Given the description of an element on the screen output the (x, y) to click on. 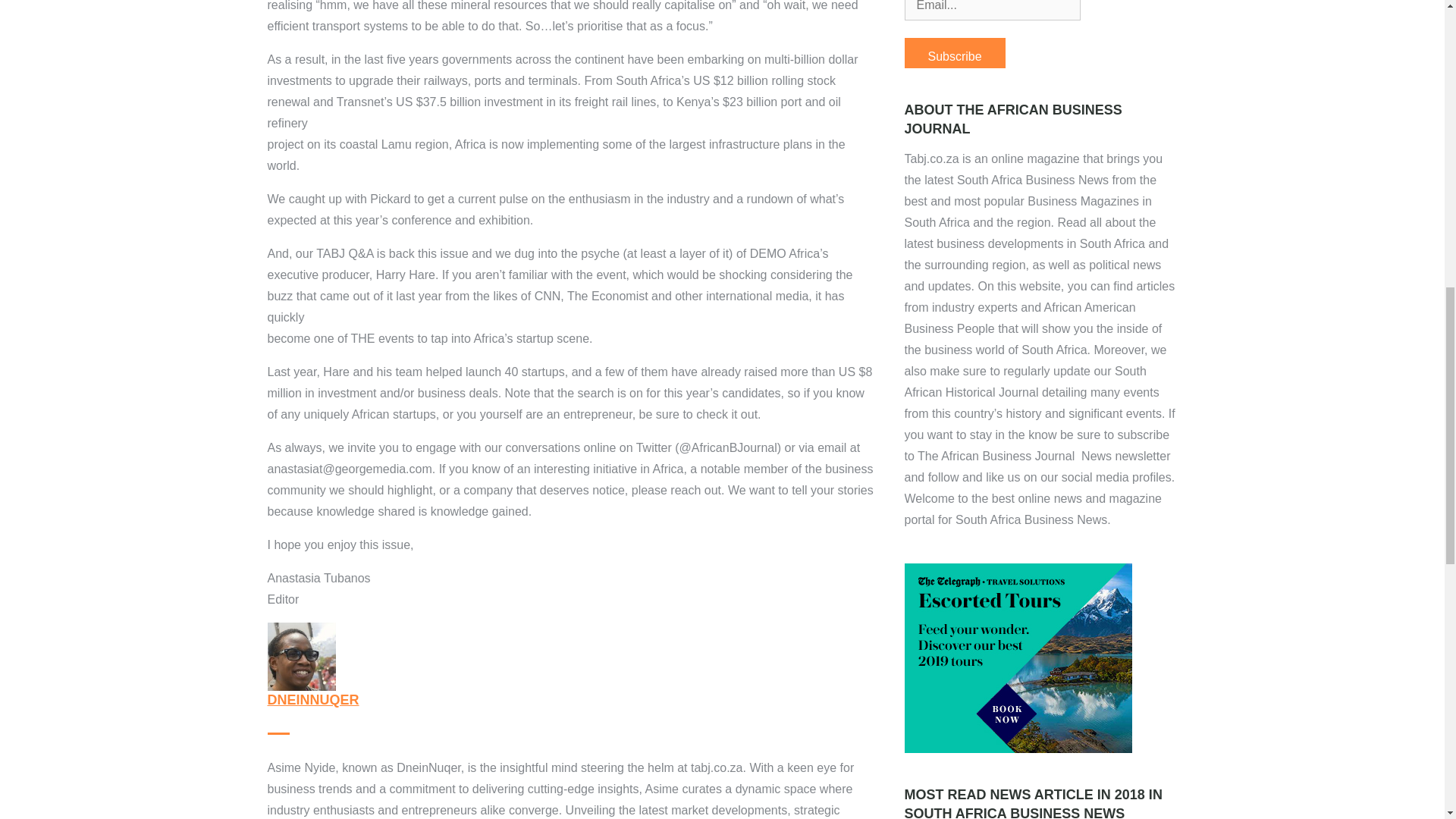
DNEINNUQER (312, 699)
Subscribe (954, 52)
Subscribe (954, 52)
